Given the description of an element on the screen output the (x, y) to click on. 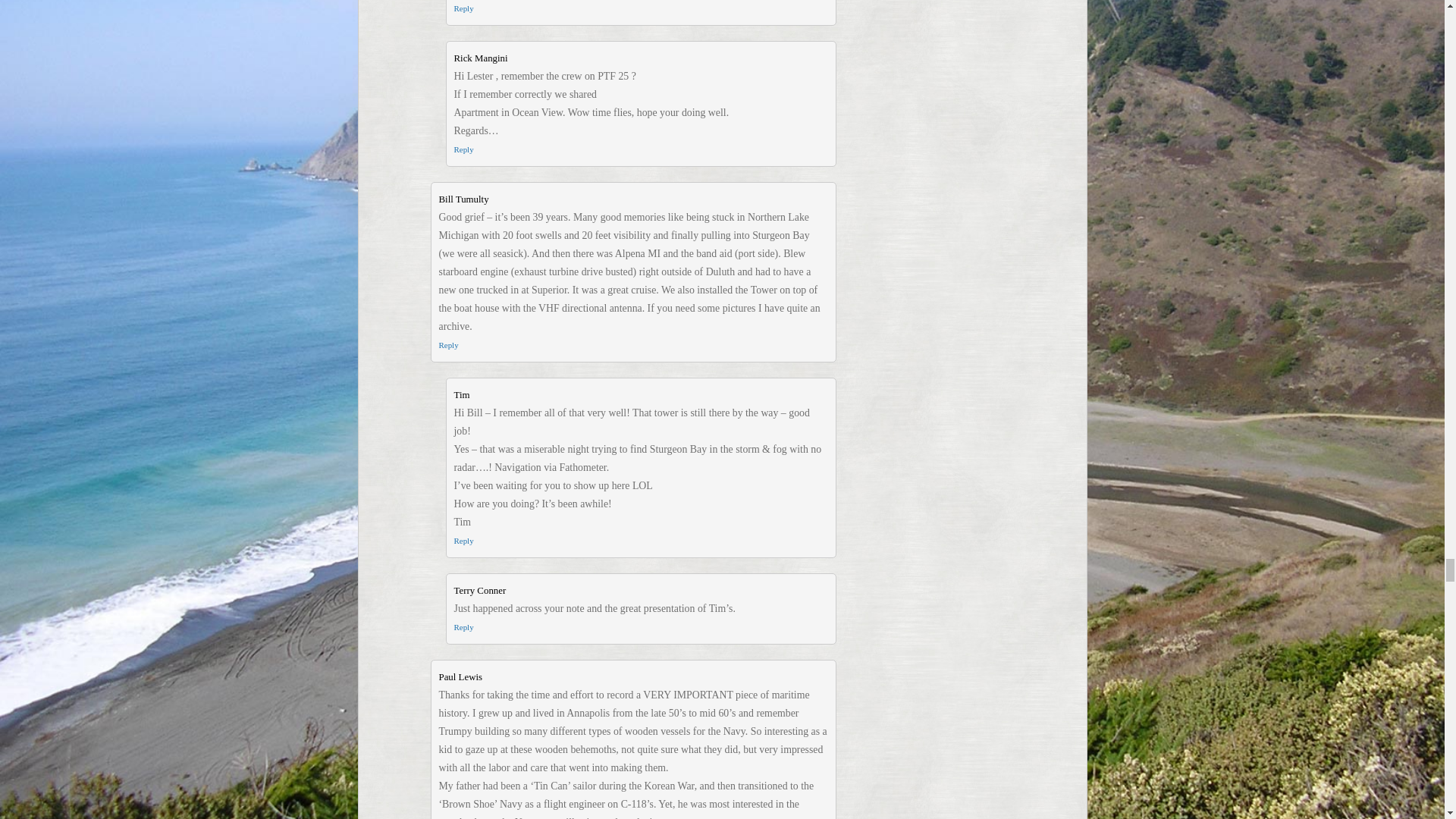
Reply (462, 148)
Reply (462, 8)
Reply (448, 344)
Reply (462, 626)
Reply (462, 540)
